Given the description of an element on the screen output the (x, y) to click on. 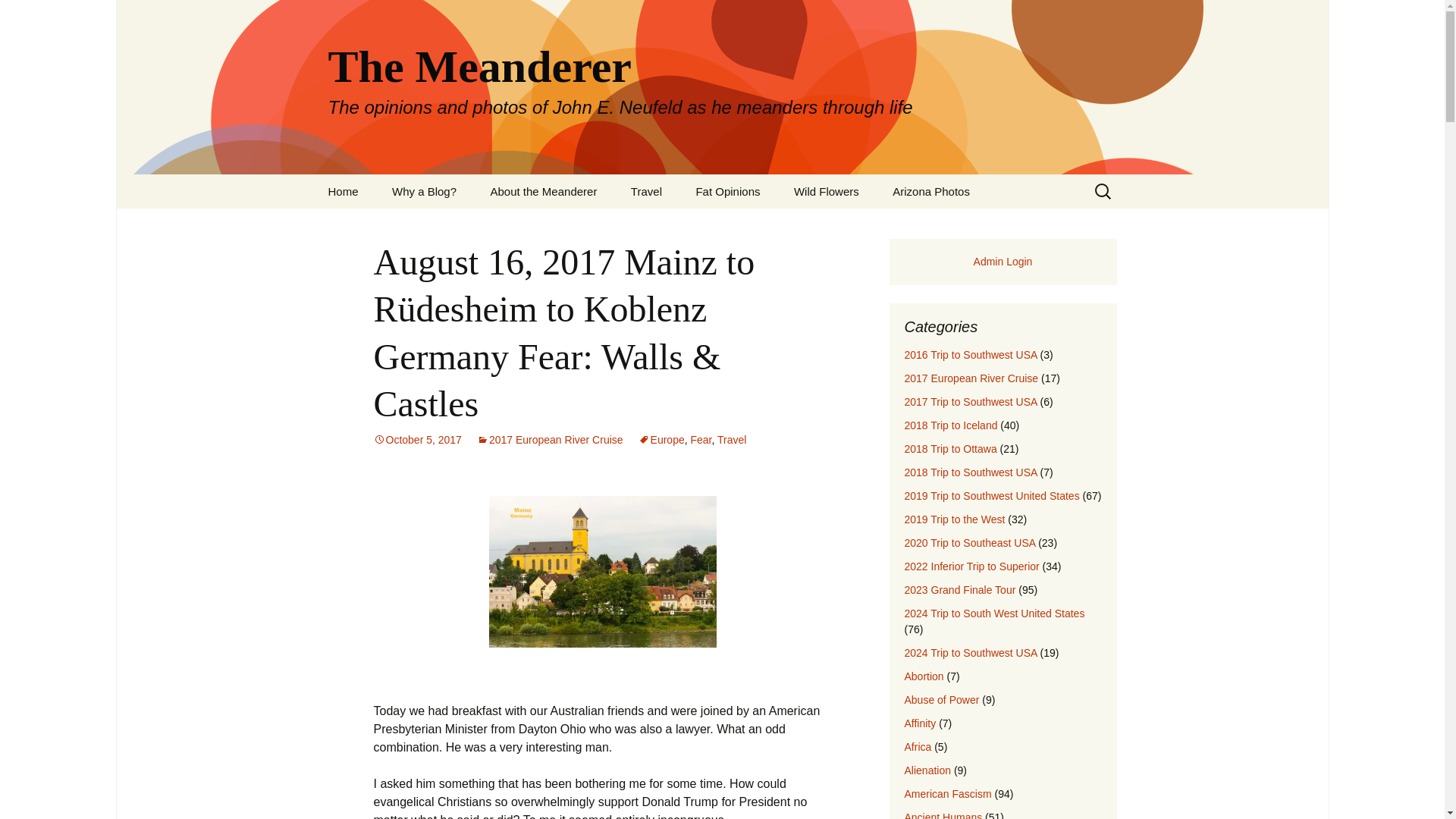
October 5, 2017 (416, 439)
Why a Blog? (424, 191)
Europe (661, 439)
Admin Login (1003, 261)
About the Meanderer (542, 191)
Arizona Photos (931, 191)
Wild Flowers (826, 191)
Fat Opinions (726, 191)
Travel (646, 191)
Search (18, 15)
Home (342, 191)
2017 European River Cruise (550, 439)
Orchids of Manitoba (854, 225)
Art (755, 225)
